Given the description of an element on the screen output the (x, y) to click on. 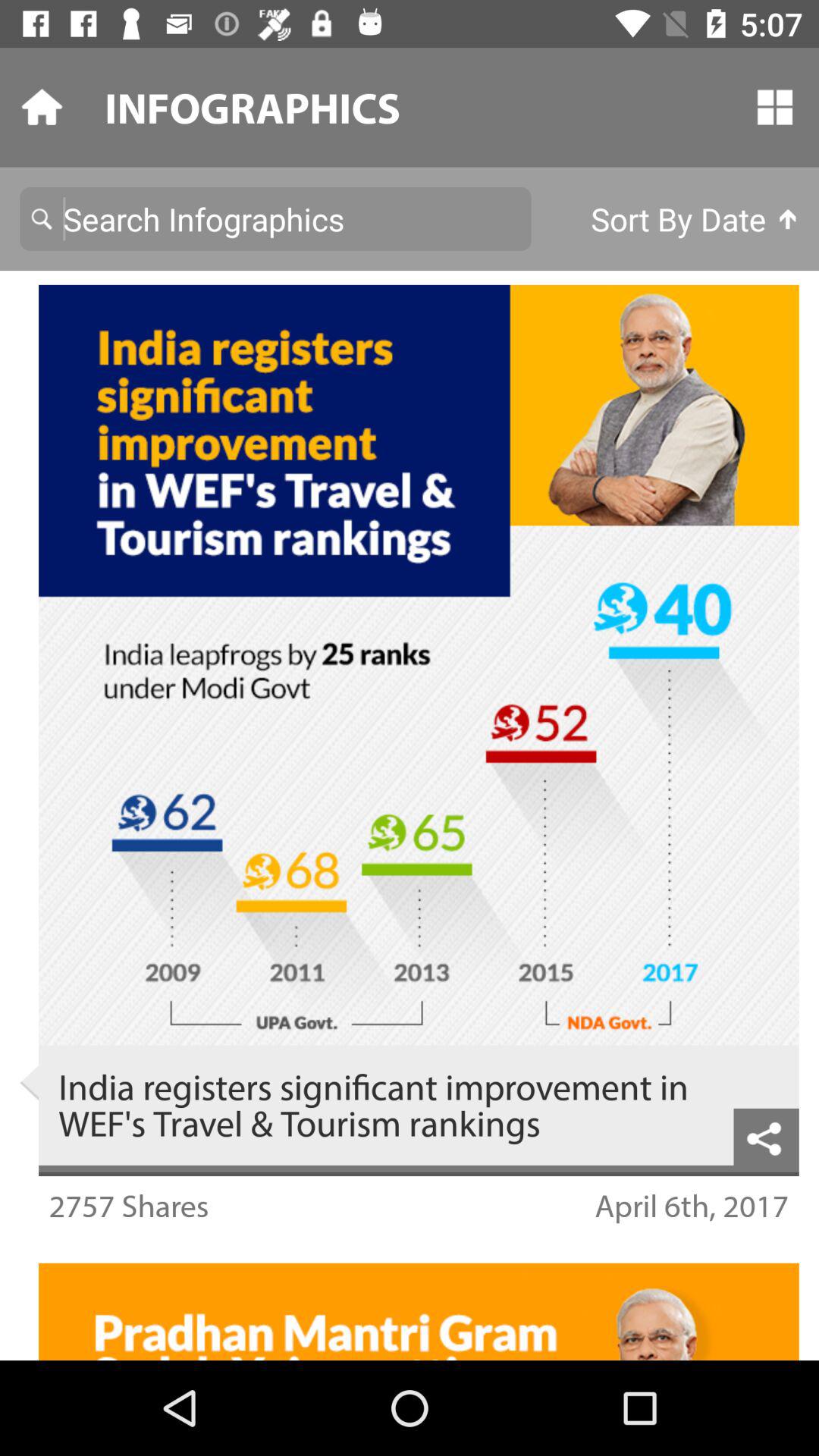
open the india registers significant icon (385, 1105)
